Given the description of an element on the screen output the (x, y) to click on. 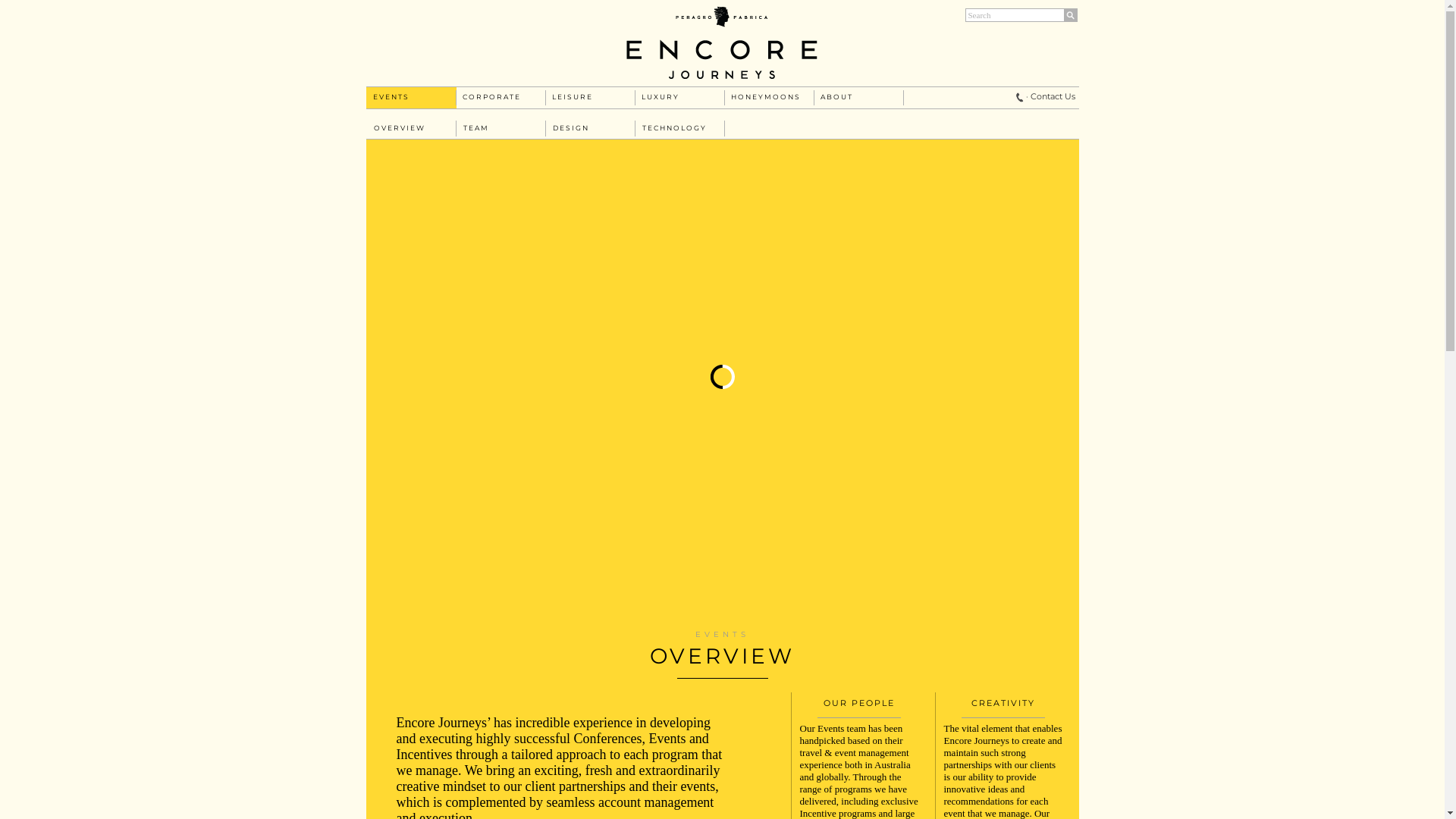
LEISURE Element type: text (570, 96)
ABOUT Element type: text (839, 96)
TEAM Element type: text (476, 127)
TECHNOLOGY Element type: text (675, 127)
OVERVIEW Element type: text (400, 127)
LUXURY Element type: text (660, 96)
Contact Us Element type: text (1051, 96)
DESIGN Element type: text (571, 127)
HONEYMOONS Element type: text (749, 96)
EVENTS Element type: text (392, 96)
CORPORATE Element type: text (481, 96)
